Given the description of an element on the screen output the (x, y) to click on. 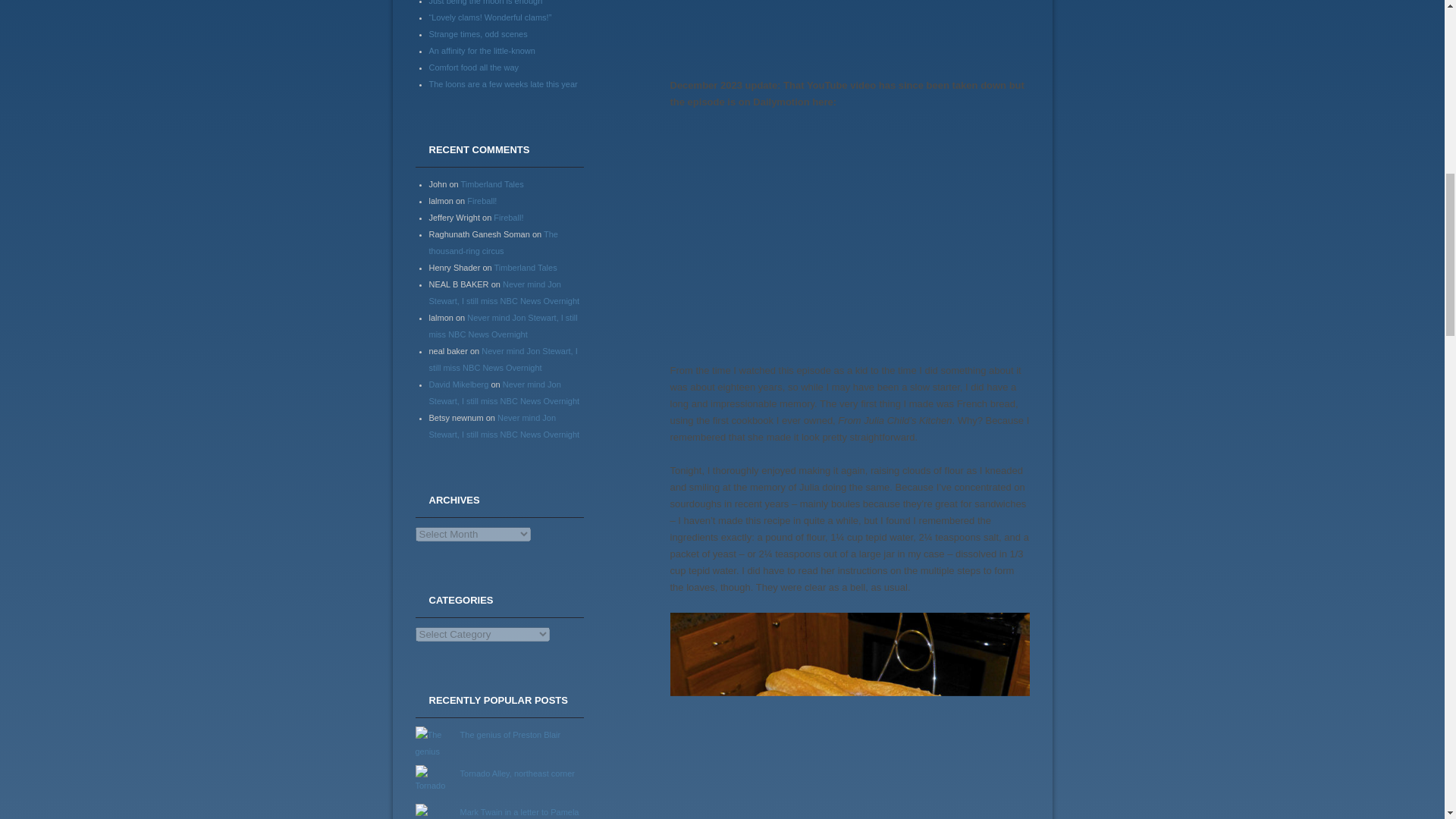
Mark Twain in a letter to Pamela Moffett, 20 August 1869 (519, 812)
Dailymotion Video Player (849, 228)
Tornado Alley, northeast corner (517, 773)
Just being the moon is enough (486, 2)
The genius of Preston Blair (510, 733)
